Given the description of an element on the screen output the (x, y) to click on. 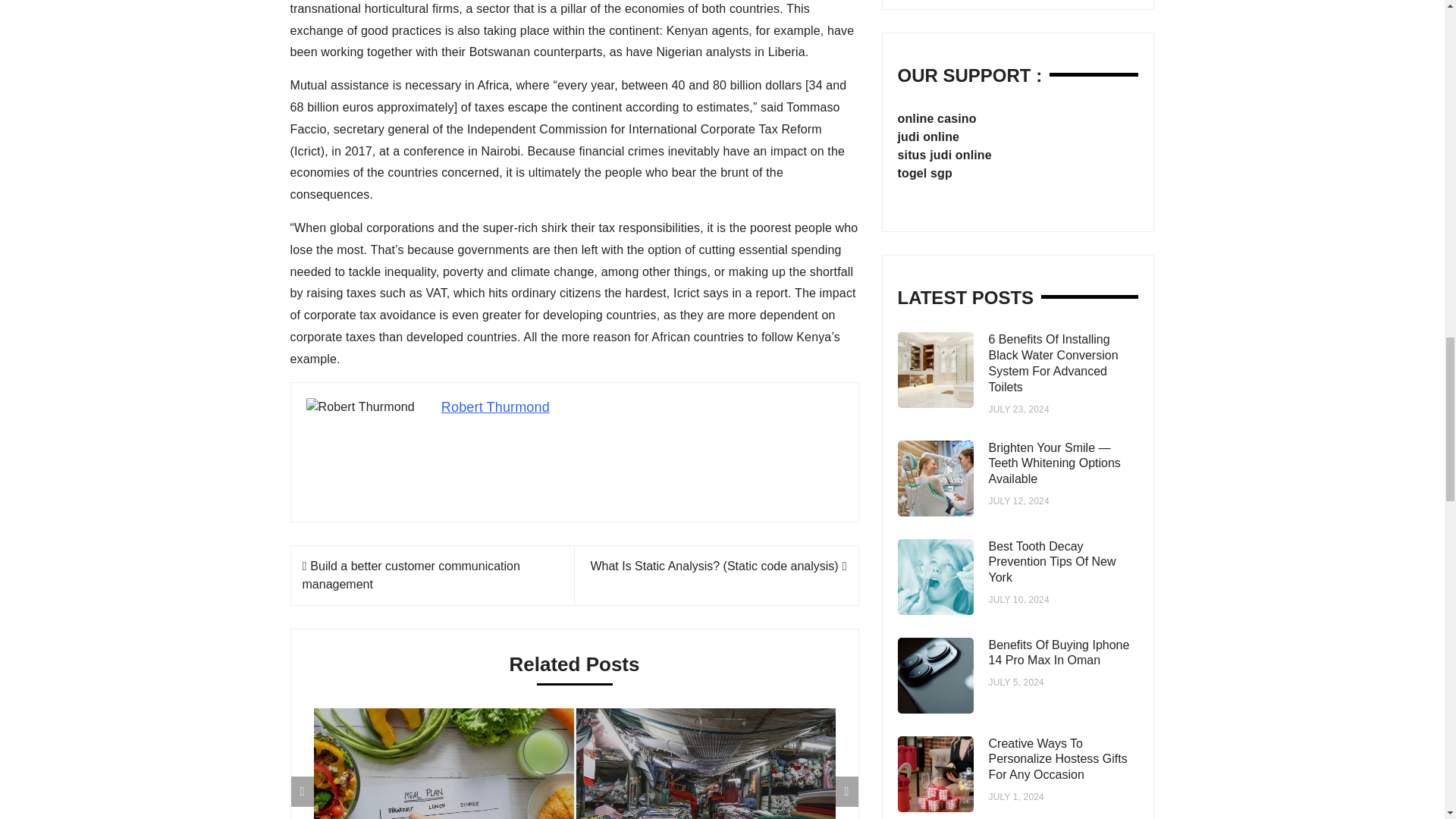
Build a better customer communication management (410, 574)
Robert Thurmond (495, 406)
